Given the description of an element on the screen output the (x, y) to click on. 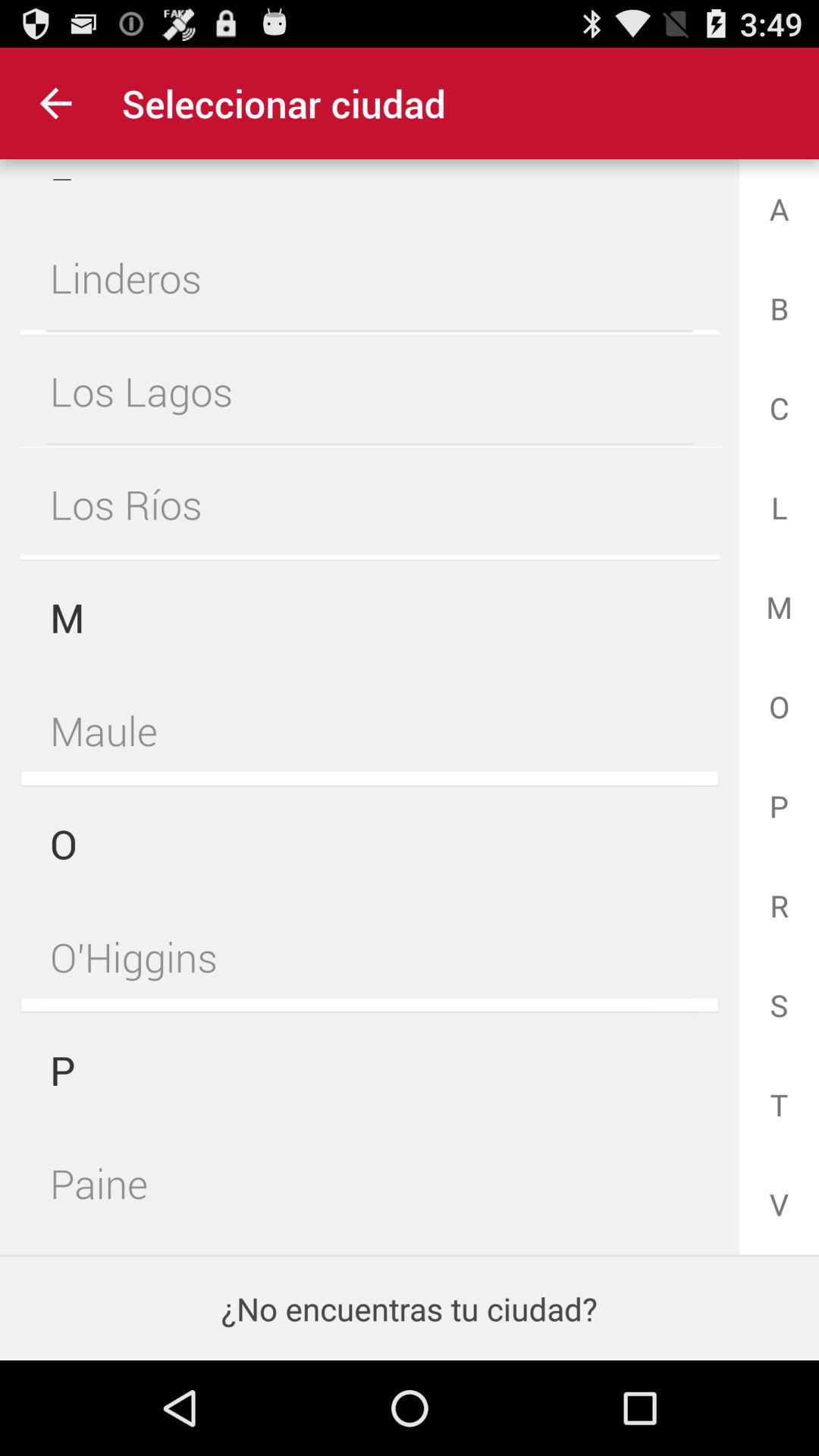
select icon above o (369, 730)
